Given the description of an element on the screen output the (x, y) to click on. 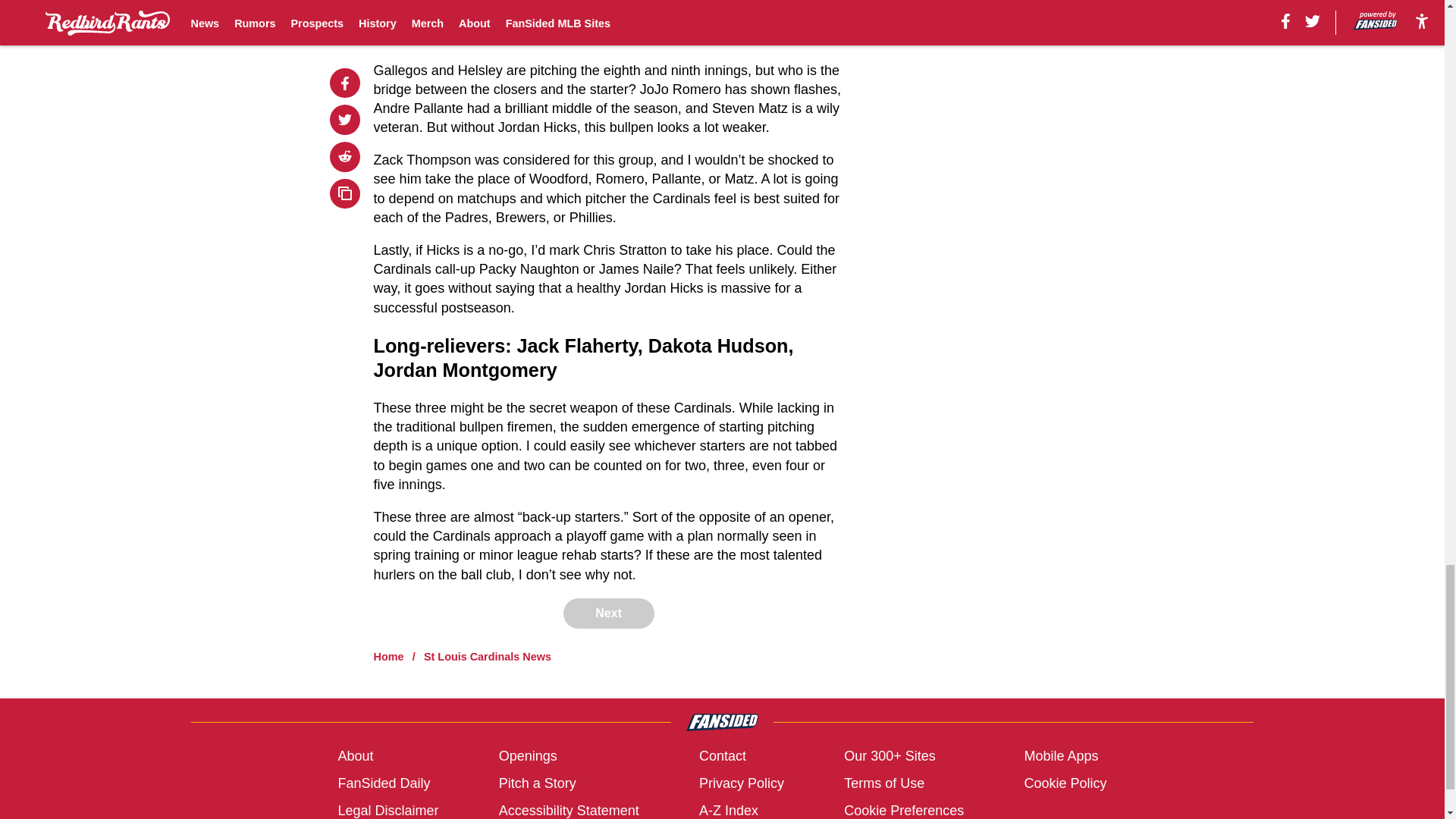
Home (389, 656)
About (354, 755)
Next (608, 613)
St Louis Cardinals News (487, 656)
